Given the description of an element on the screen output the (x, y) to click on. 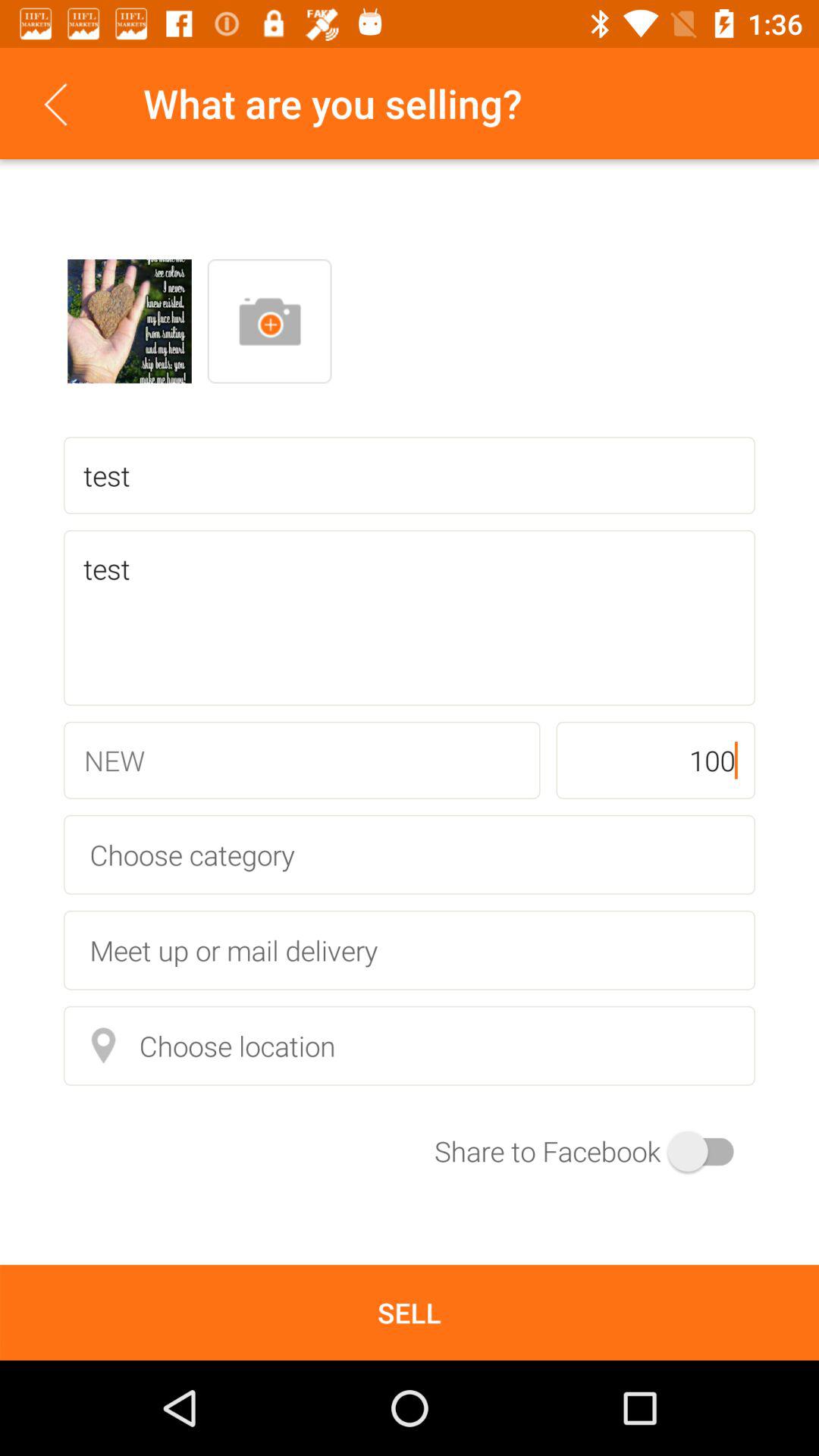
add new image (269, 320)
